Given the description of an element on the screen output the (x, y) to click on. 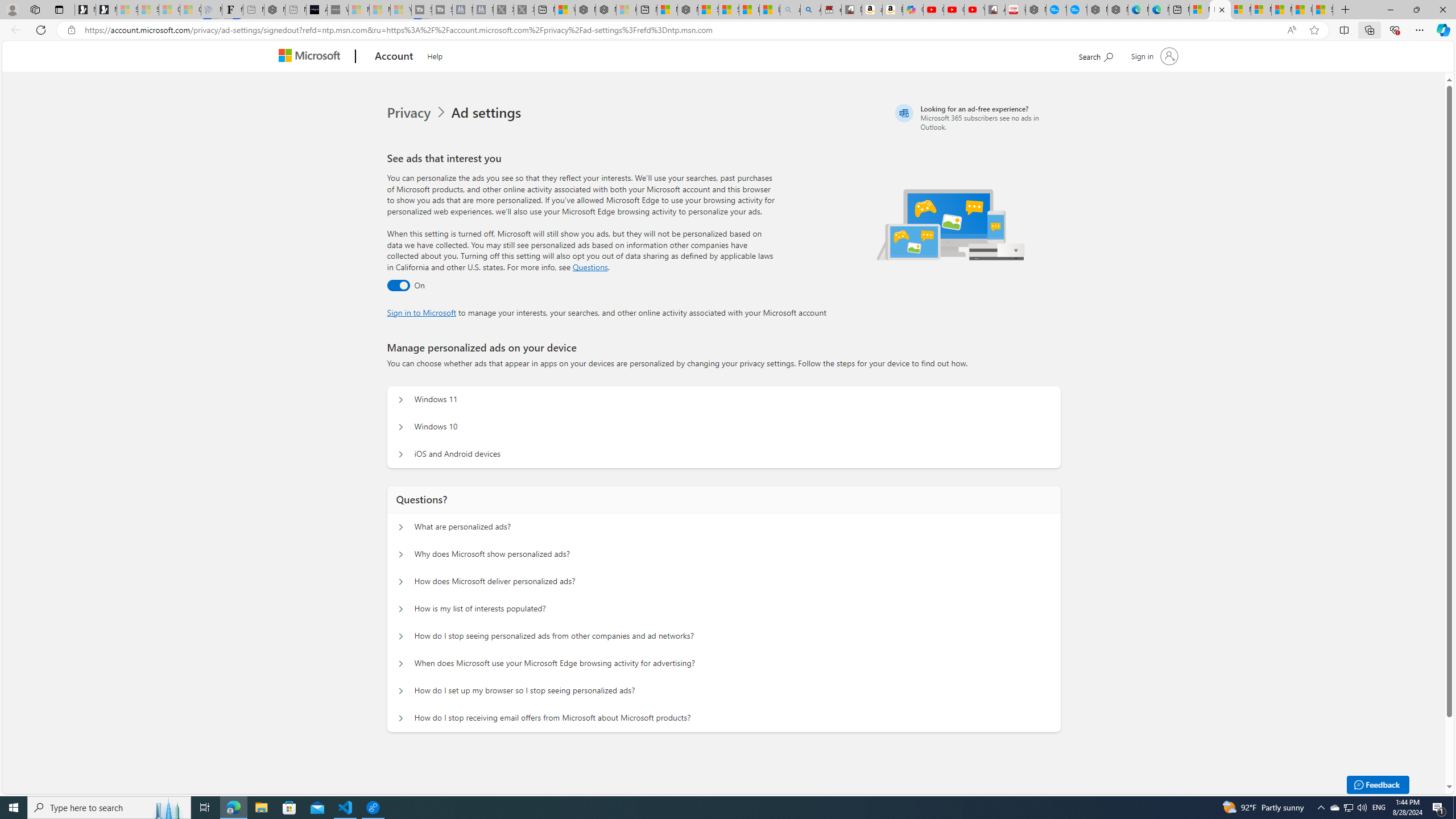
Newsletter Sign Up (106, 9)
The most popular Google 'how to' searches (1076, 9)
What's the best AI voice generator? - voice.ai - Sleeping (337, 9)
Privacy (410, 112)
Manage personalized ads on your device Windows 11 (401, 400)
Questions? How is my list of interests populated? (401, 608)
Looking for an ad-free experience? (976, 117)
Microsoft Start Sports - Sleeping (358, 9)
